Given the description of an element on the screen output the (x, y) to click on. 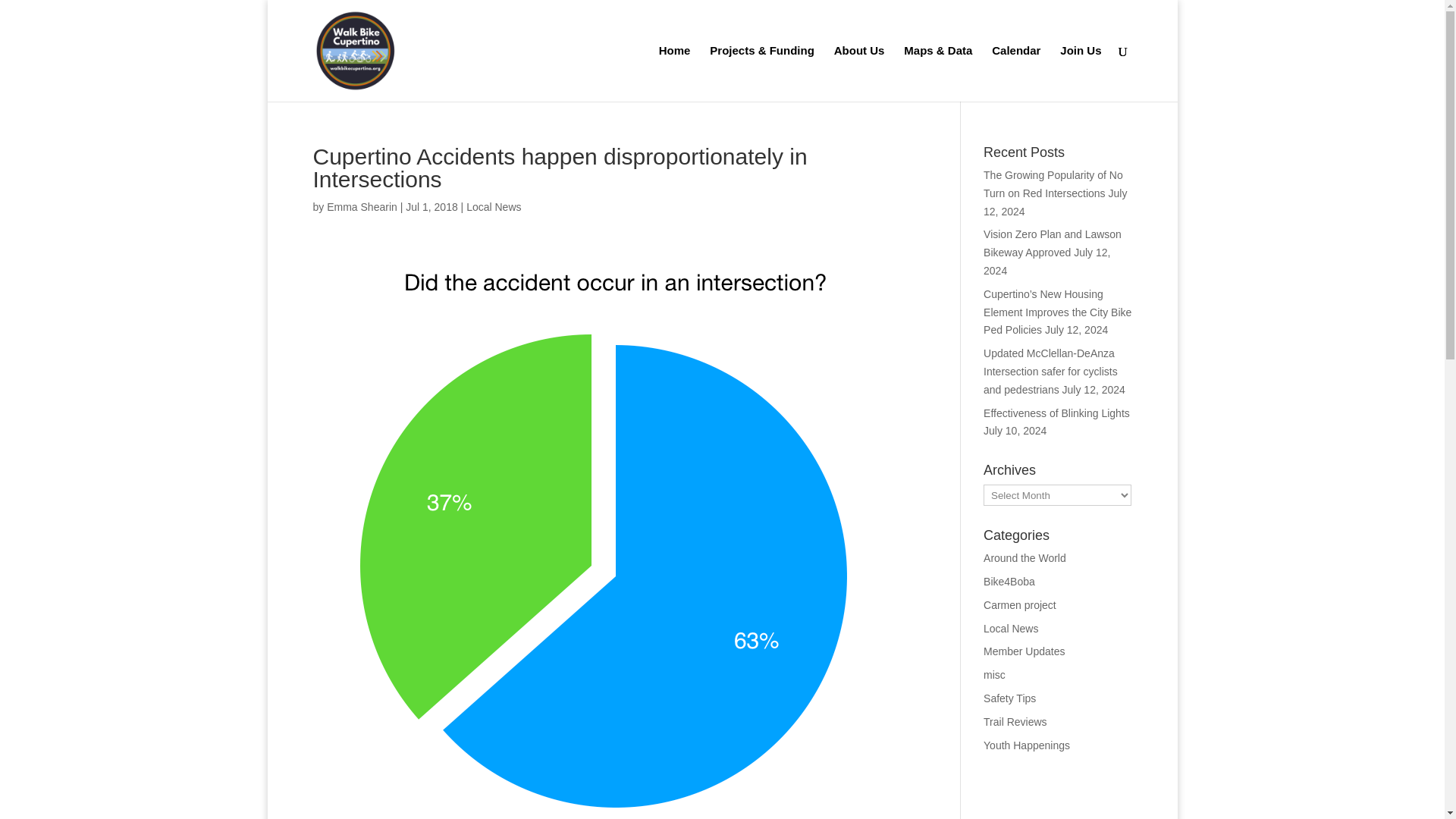
Safety Tips (1009, 698)
Local News (493, 206)
Emma Shearin (361, 206)
Bike4Boba (1009, 581)
Trail Reviews (1015, 721)
Youth Happenings (1027, 745)
Vision Zero Plan and Lawson Bikeway Approved (1052, 243)
About Us (859, 73)
Local News (1011, 628)
Posts by Emma Shearin (361, 206)
misc (995, 674)
Effectiveness of Blinking Lights (1056, 413)
Carmen project (1020, 604)
The Growing Popularity of No Turn on Red Intersections (1053, 183)
